Given the description of an element on the screen output the (x, y) to click on. 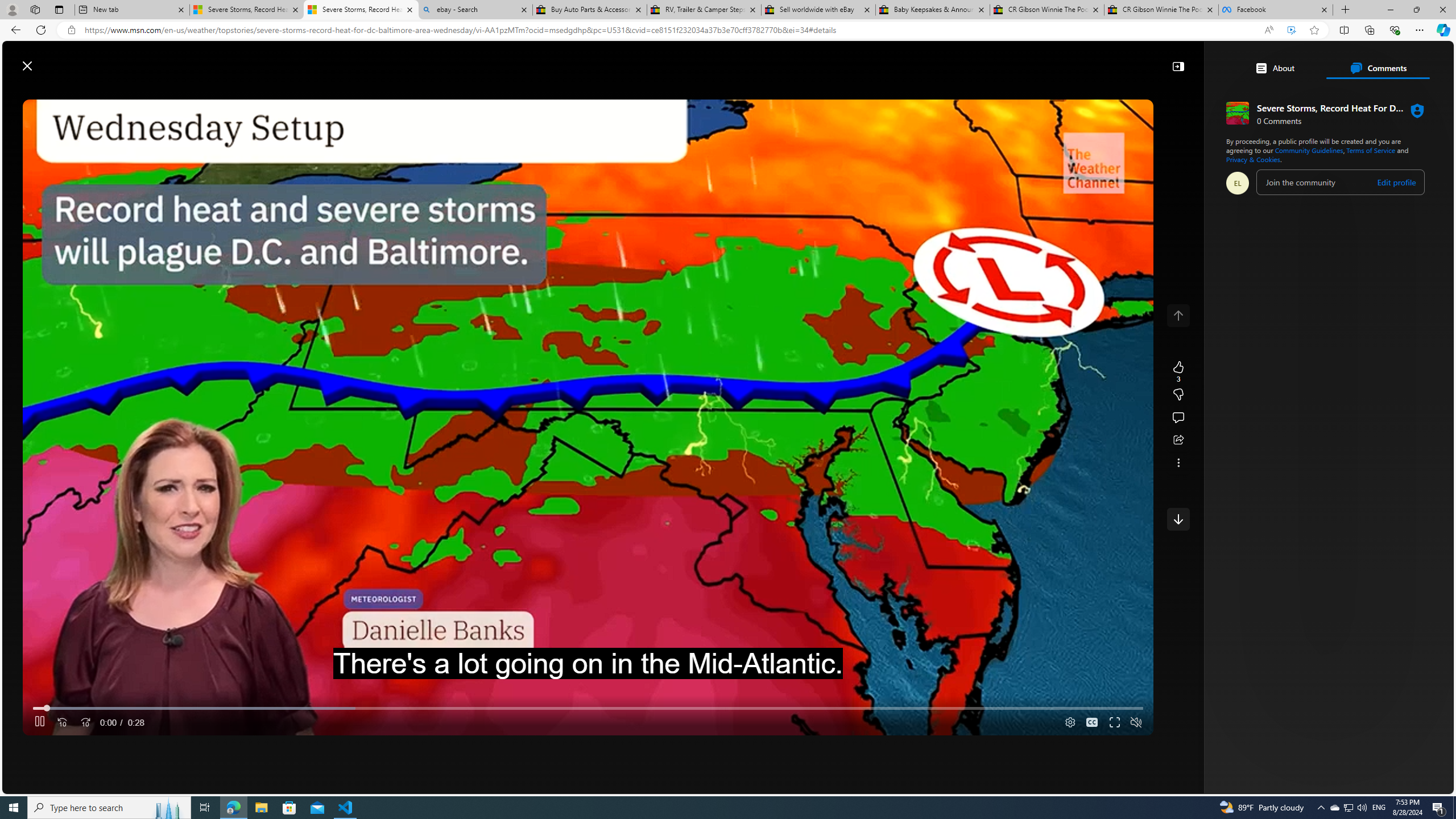
3 Like (1178, 371)
Class: button-glyph (292, 92)
About (1274, 67)
comment-box (1340, 181)
Buy Auto Parts & Accessories | eBay (589, 9)
See more (1178, 462)
Profile Picture (1237, 182)
To get missing image descriptions, open the context menu. (1109, 92)
Share this story (1178, 440)
Discover (327, 92)
